Given the description of an element on the screen output the (x, y) to click on. 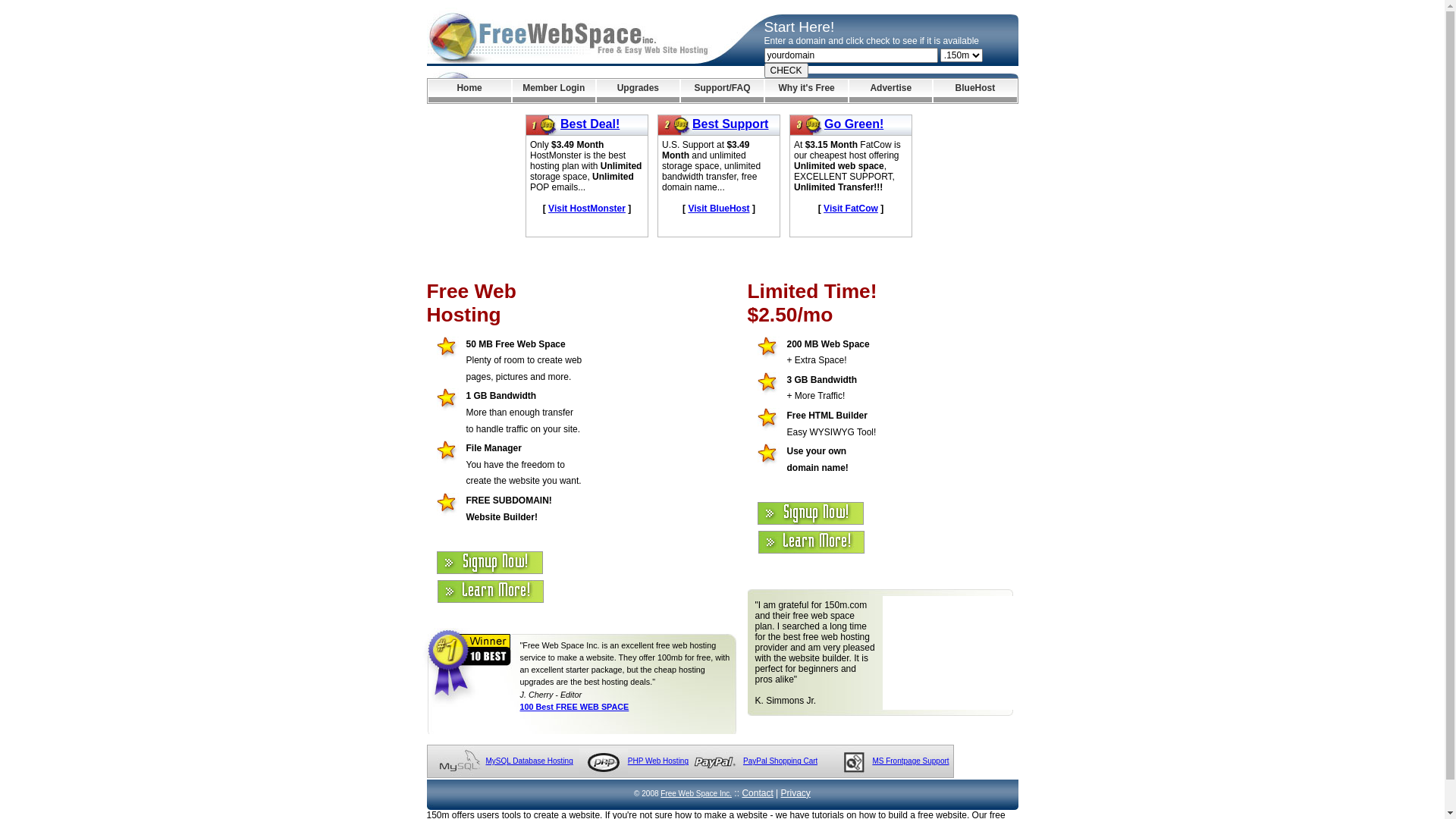
Privacy Element type: text (795, 792)
Upgrades Element type: text (637, 90)
Free Web Space Inc. Element type: text (695, 793)
Member Login Element type: text (553, 90)
BlueHost Element type: text (974, 90)
Support/FAQ Element type: text (721, 90)
Contact Element type: text (756, 792)
MySQL Database Hosting Element type: text (528, 760)
CHECK Element type: text (786, 70)
100 Best FREE WEB SPACE Element type: text (574, 706)
MS Frontpage Support Element type: text (910, 760)
Advertise Element type: text (890, 90)
Home Element type: text (468, 90)
PHP Web Hosting Element type: text (657, 760)
PayPal Shopping Cart Element type: text (780, 760)
Why it's Free Element type: text (806, 90)
